Given the description of an element on the screen output the (x, y) to click on. 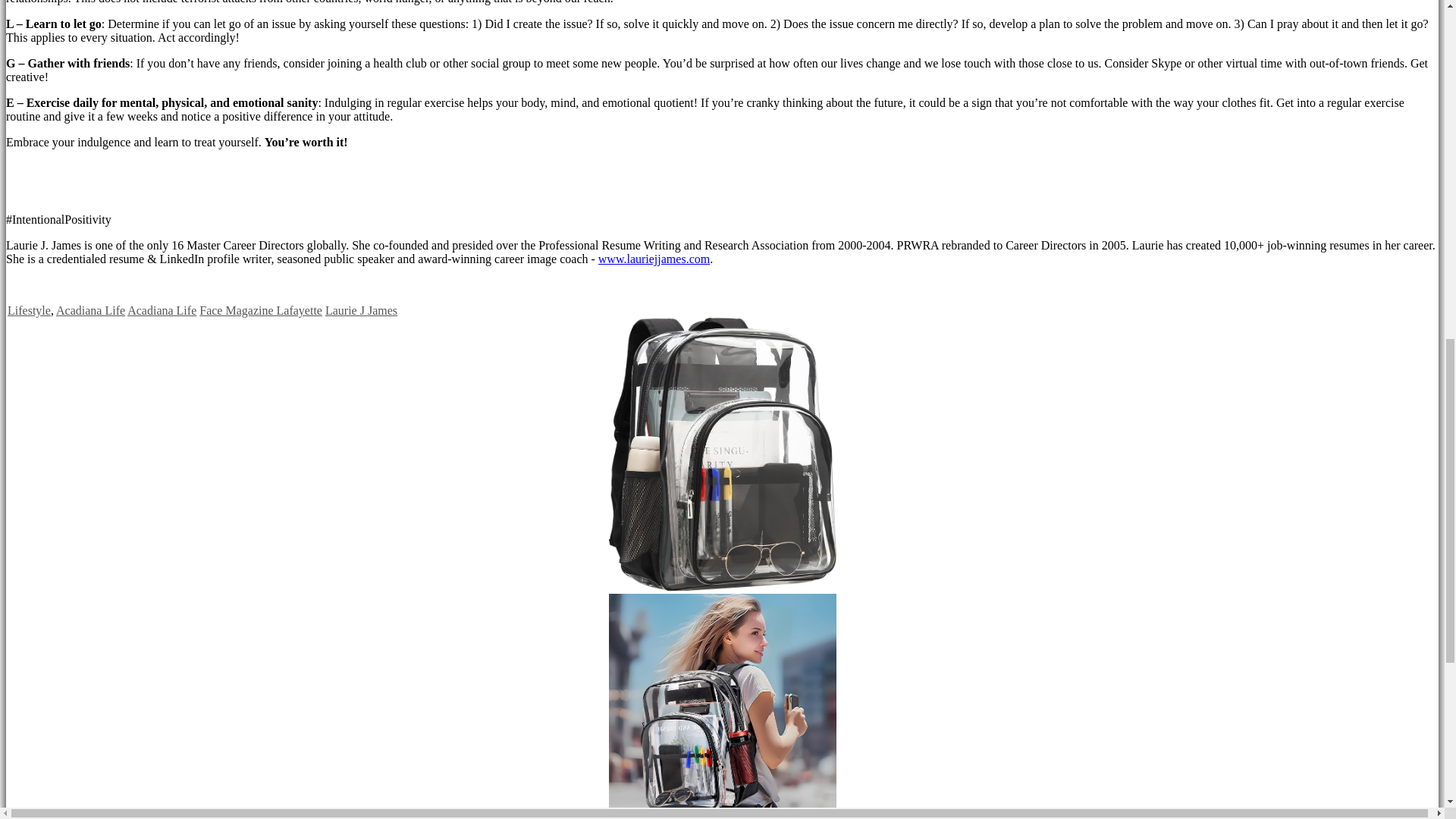
Acadiana Life (162, 309)
Amazon BackPack 2 (721, 706)
Acadiana Life (90, 309)
www.lauriejjames.com (654, 258)
Lifestyle (28, 309)
Face Magazine Lafayette (260, 309)
Laurie J James (360, 309)
